Given the description of an element on the screen output the (x, y) to click on. 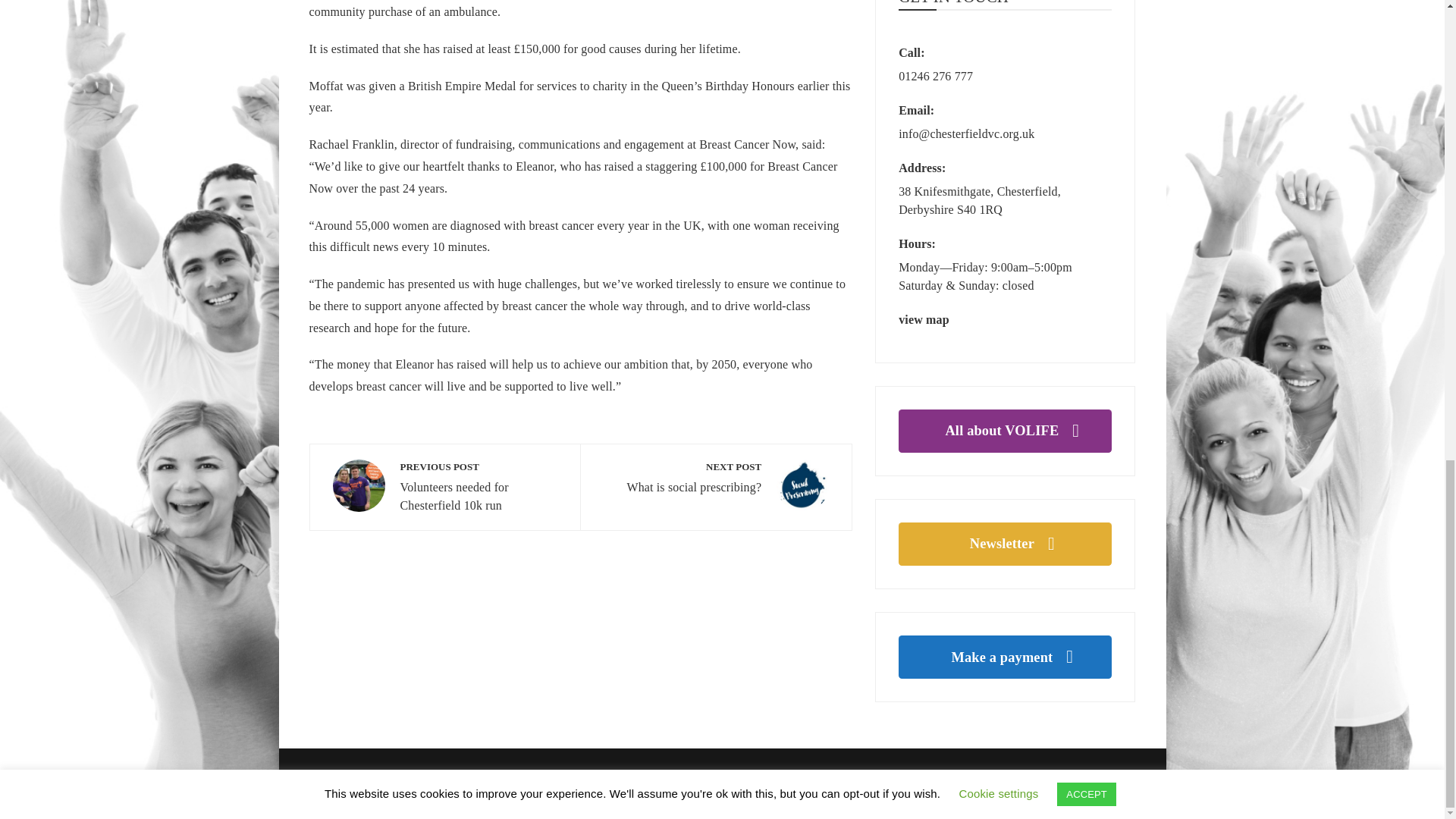
Newsletter (1005, 543)
view map (1005, 319)
All about VOLIFE (443, 487)
Make a payment (716, 485)
